Given the description of an element on the screen output the (x, y) to click on. 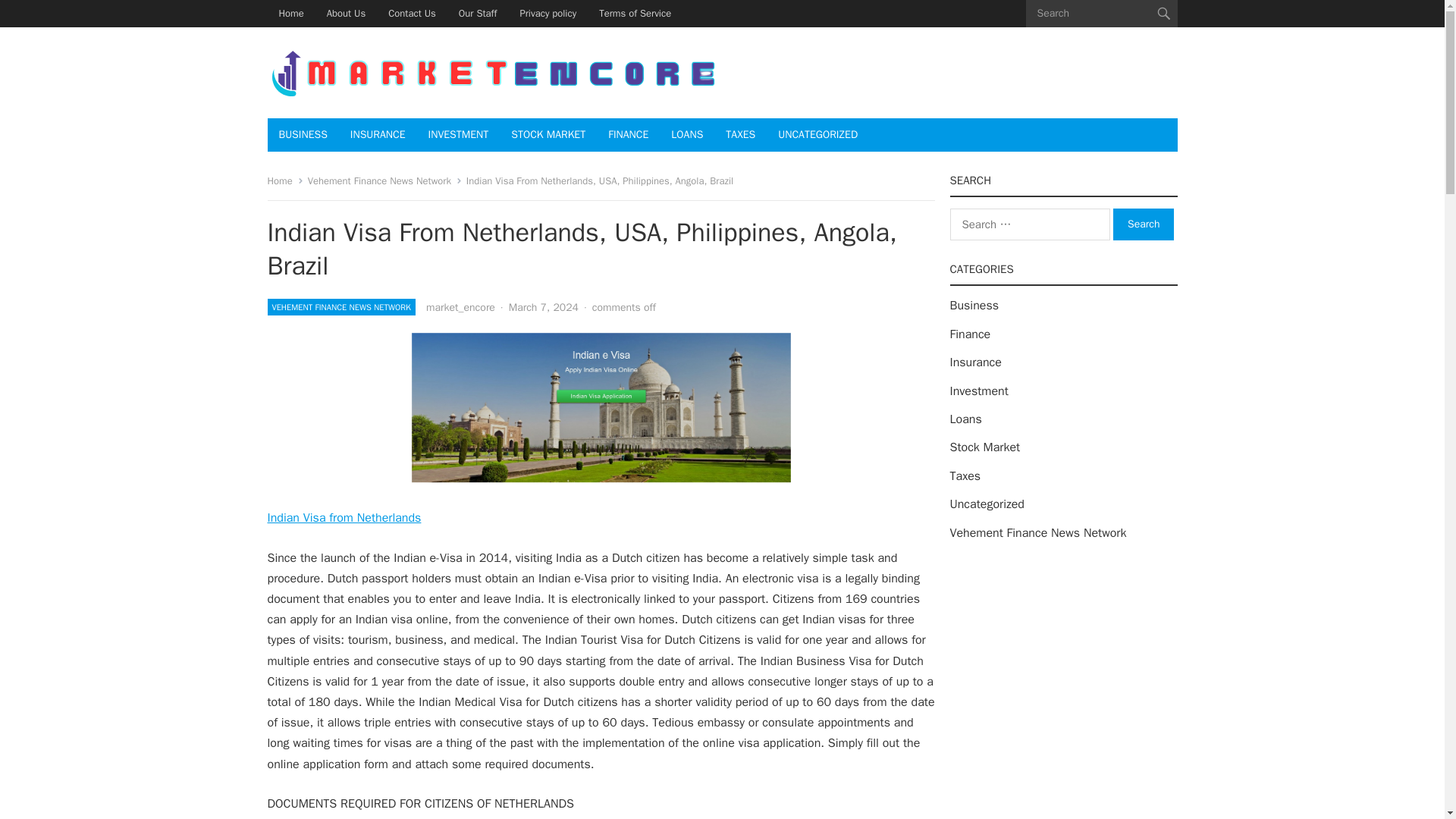
About Us (346, 13)
Search (1143, 224)
BUSINESS (301, 134)
Search (1143, 224)
VEHEMENT FINANCE NEWS NETWORK (340, 306)
INVESTMENT (458, 134)
Terms of Service (635, 13)
Indian Visa from Netherlands (343, 517)
Home (284, 180)
INSURANCE (377, 134)
STOCK MARKET (547, 134)
TAXES (740, 134)
Contact Us (411, 13)
Home (290, 13)
Privacy policy (548, 13)
